Given the description of an element on the screen output the (x, y) to click on. 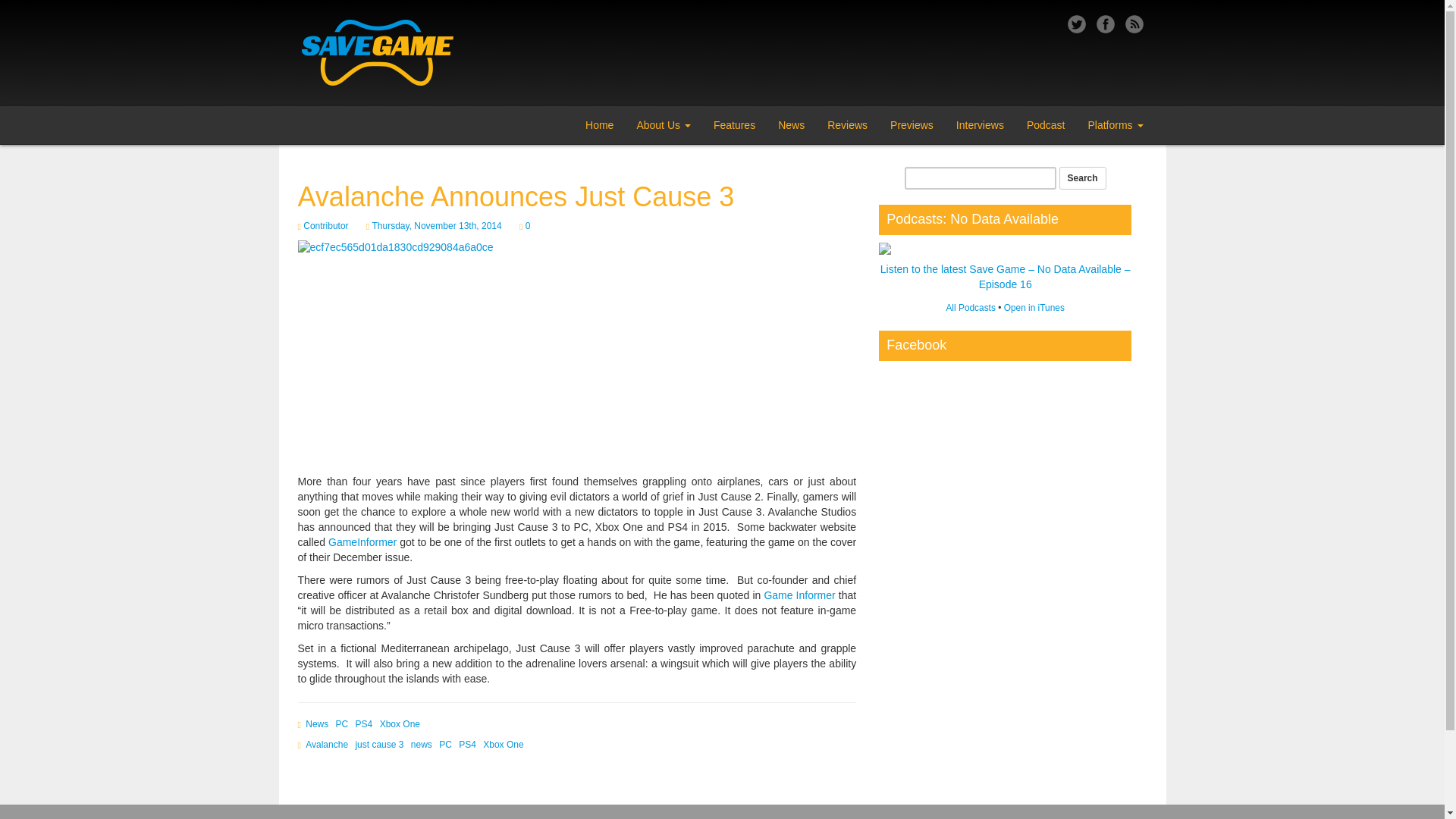
Interviews (979, 125)
About Us (662, 125)
Contributor (324, 225)
Game Informer (798, 594)
Platforms (1114, 125)
PC (342, 724)
Save Game (286, 113)
News (791, 125)
Save Game (398, 52)
Reviews (847, 125)
Posts by Contributor (324, 225)
News (317, 724)
Previews (911, 125)
Podcast (1045, 125)
Avalanche (326, 744)
